Given the description of an element on the screen output the (x, y) to click on. 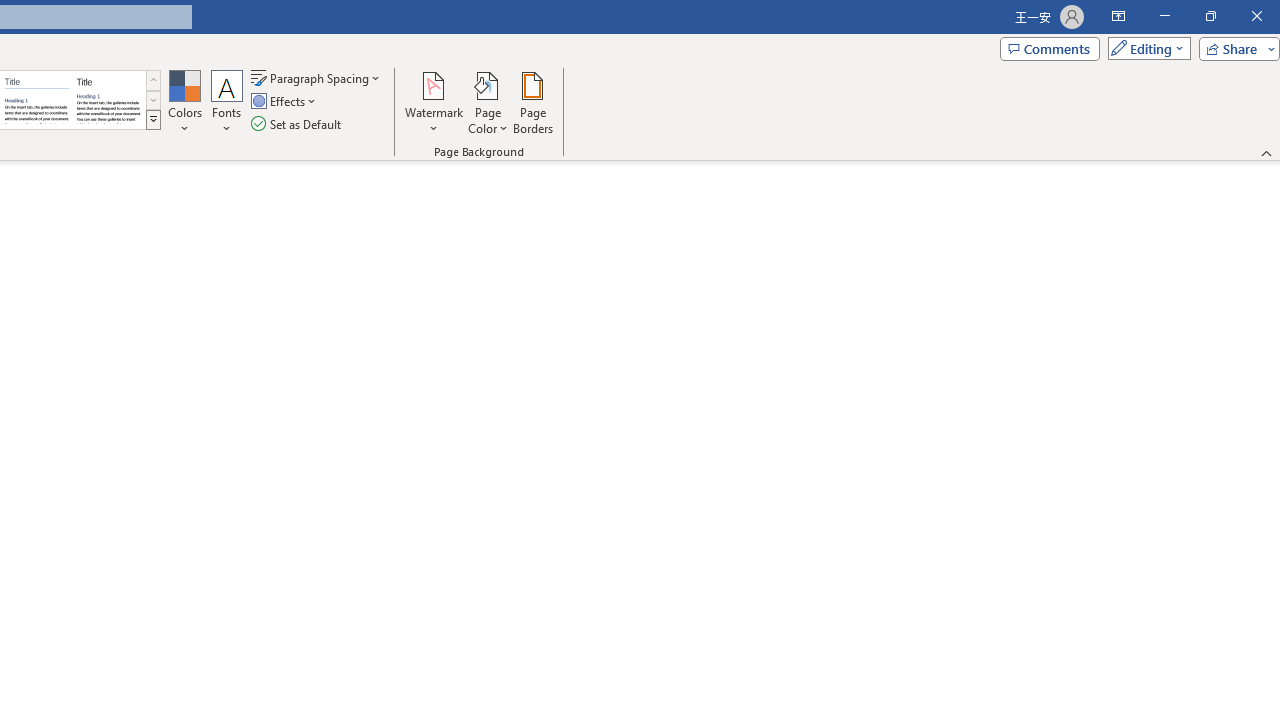
Fonts (227, 102)
Colors (184, 102)
Editing (1144, 47)
Word 2010 (36, 100)
Set as Default (298, 124)
Word 2013 (108, 100)
